Given the description of an element on the screen output the (x, y) to click on. 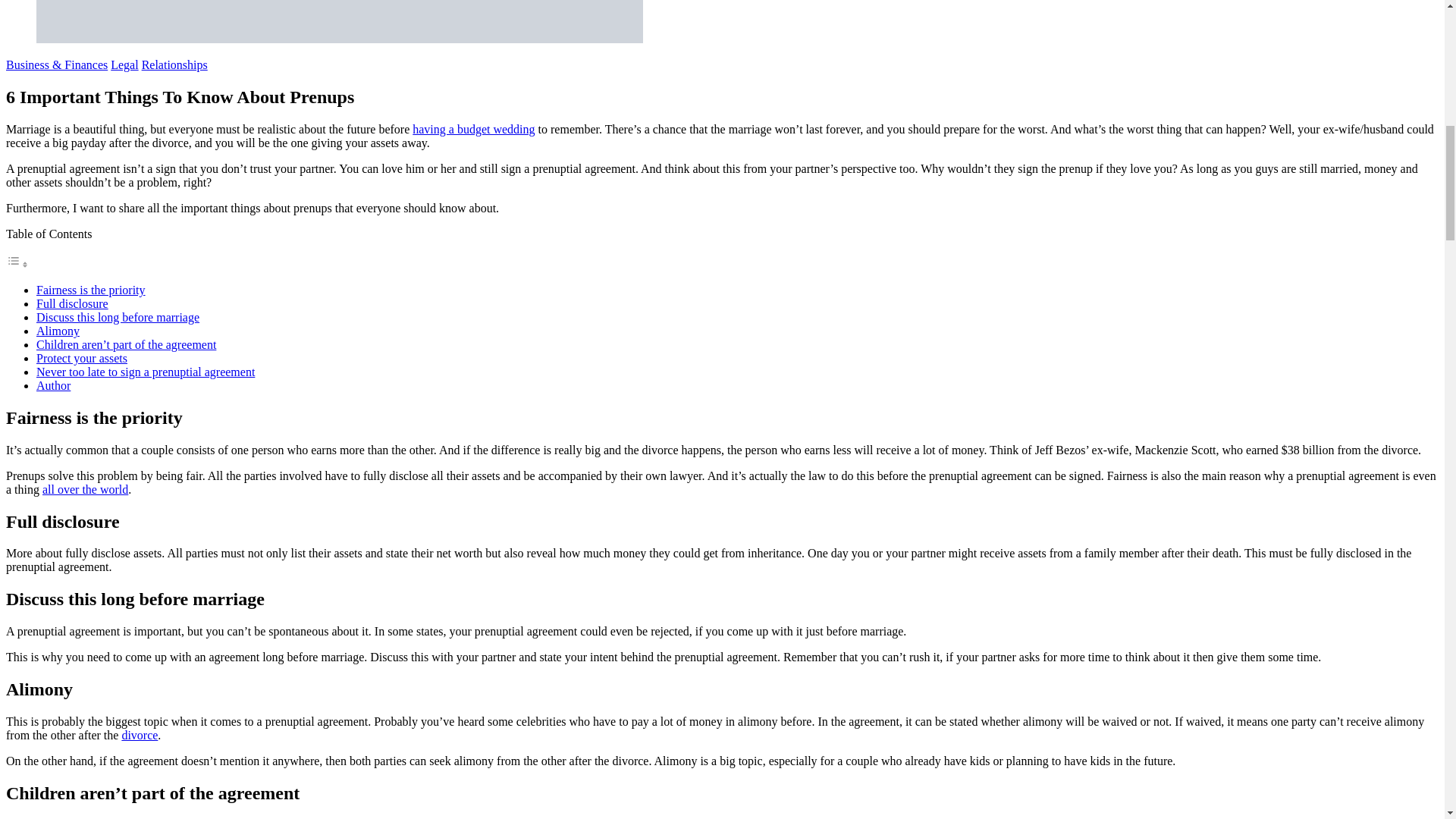
Fairness is the priority (90, 289)
Discuss this long before marriage (117, 317)
Protect your assets (82, 358)
Fairness is the priority (90, 289)
Never too late to sign a prenuptial agreement (145, 371)
Never too late to sign a prenuptial agreement (145, 371)
having a budget wedding (473, 128)
Legal (124, 64)
Full disclosure (71, 303)
Full disclosure (71, 303)
Author (52, 385)
all over the world (85, 489)
Author (52, 385)
Discuss this long before marriage (117, 317)
Relationships (174, 64)
